Given the description of an element on the screen output the (x, y) to click on. 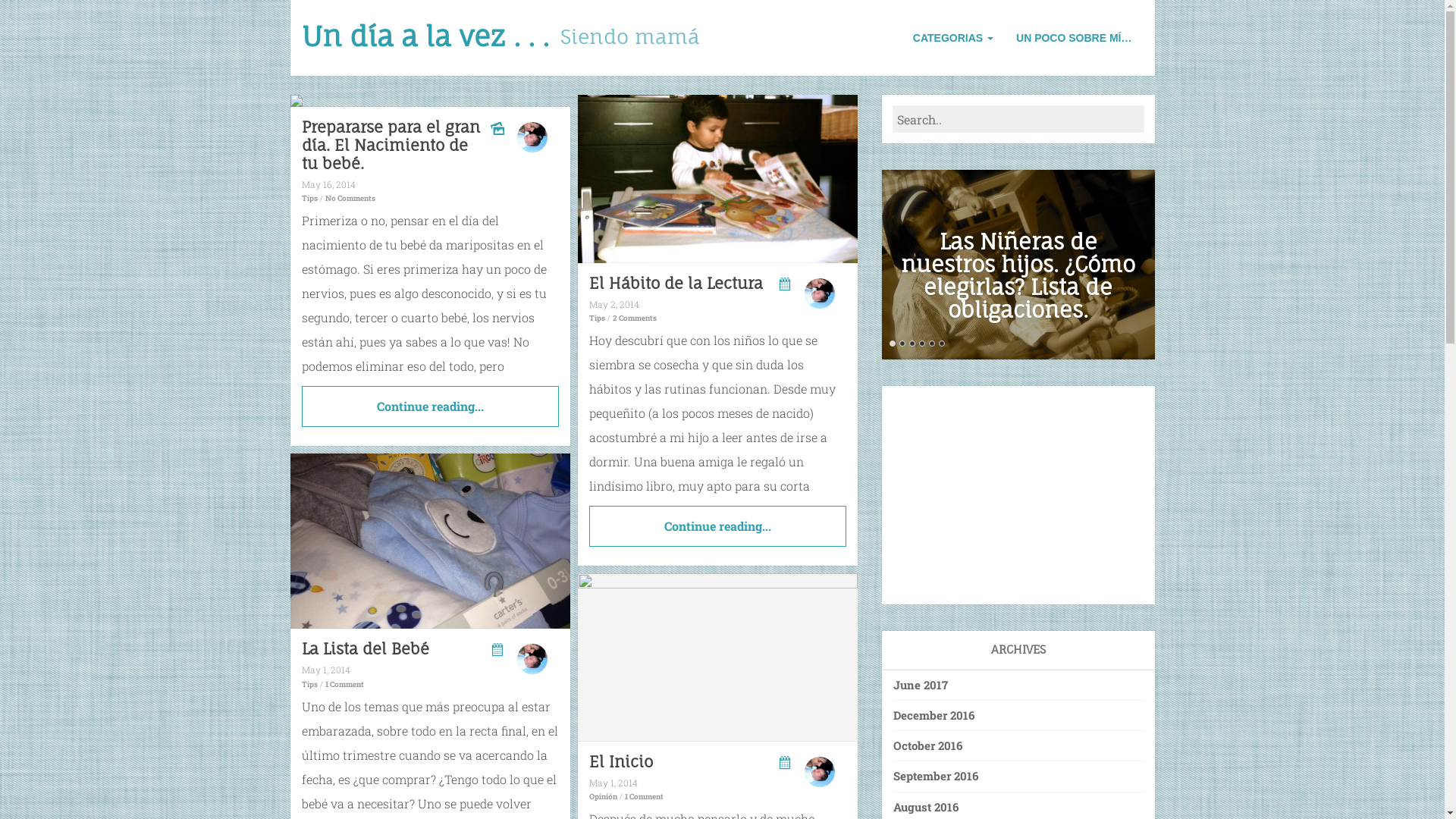
El Inicio Element type: text (620, 761)
June 2017 Element type: text (1018, 684)
No Comments Element type: text (349, 198)
CATEGORIAS Element type: text (952, 37)
Tips Element type: text (596, 318)
December 2016 Element type: text (1018, 714)
August 2016 Element type: text (1018, 805)
1 Comment Element type: text (643, 796)
Tips Element type: text (309, 198)
Tips Element type: text (309, 684)
2 Comments Element type: text (634, 318)
1 Comment Element type: text (343, 684)
Continue reading... Element type: text (717, 525)
Continue reading... Element type: text (430, 405)
El Inicio Element type: text (744, 264)
El Inicio Element type: hover (717, 656)
September 2016 Element type: text (1018, 775)
October 2016 Element type: text (1018, 745)
